Given the description of an element on the screen output the (x, y) to click on. 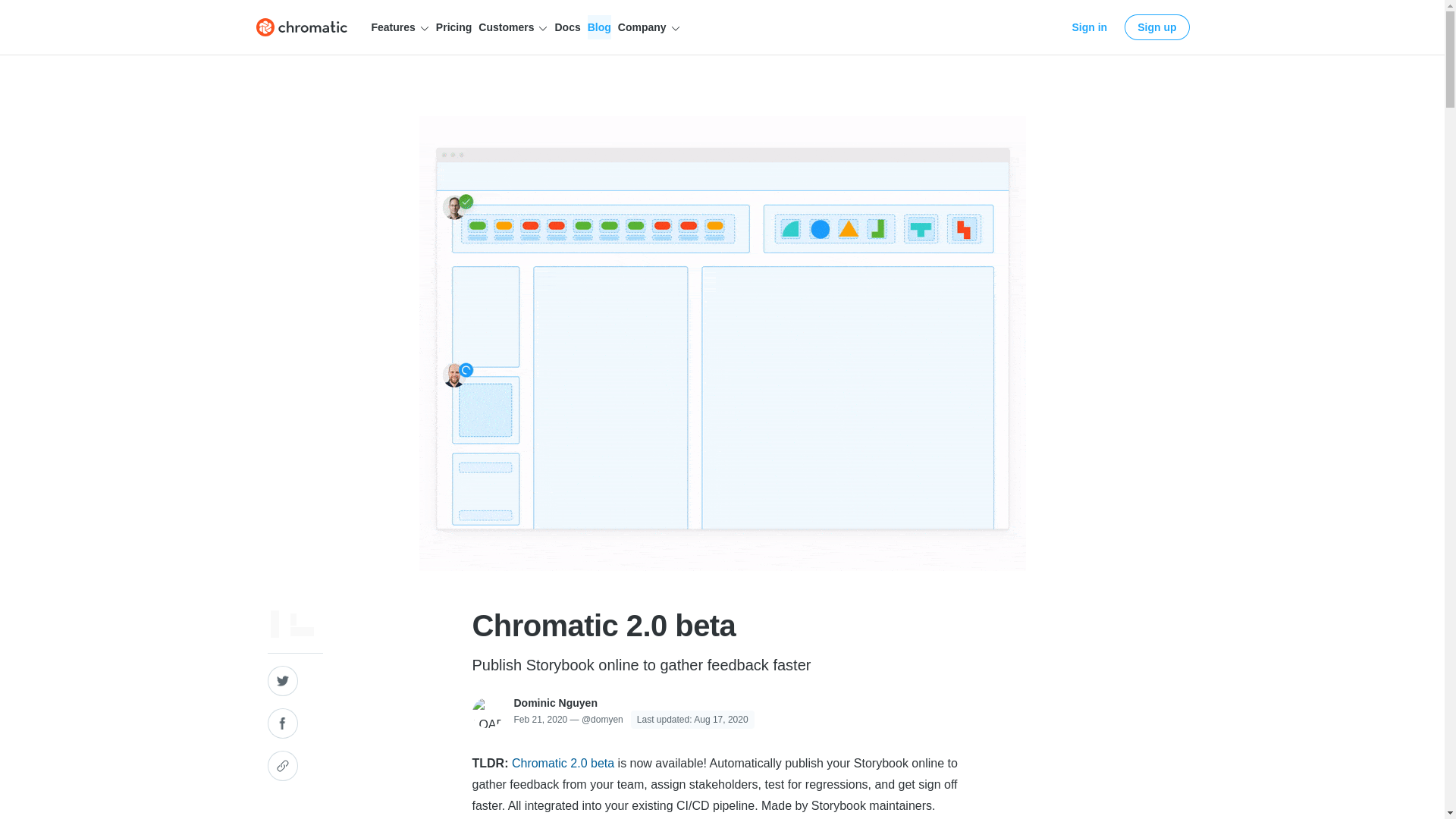
Chromatic 2.0 beta (563, 762)
Docs (566, 27)
Blog (599, 27)
Sign in (1089, 27)
Customers (513, 27)
Company (648, 27)
Features (400, 27)
Pricing (453, 27)
Sign up (1156, 27)
